Given the description of an element on the screen output the (x, y) to click on. 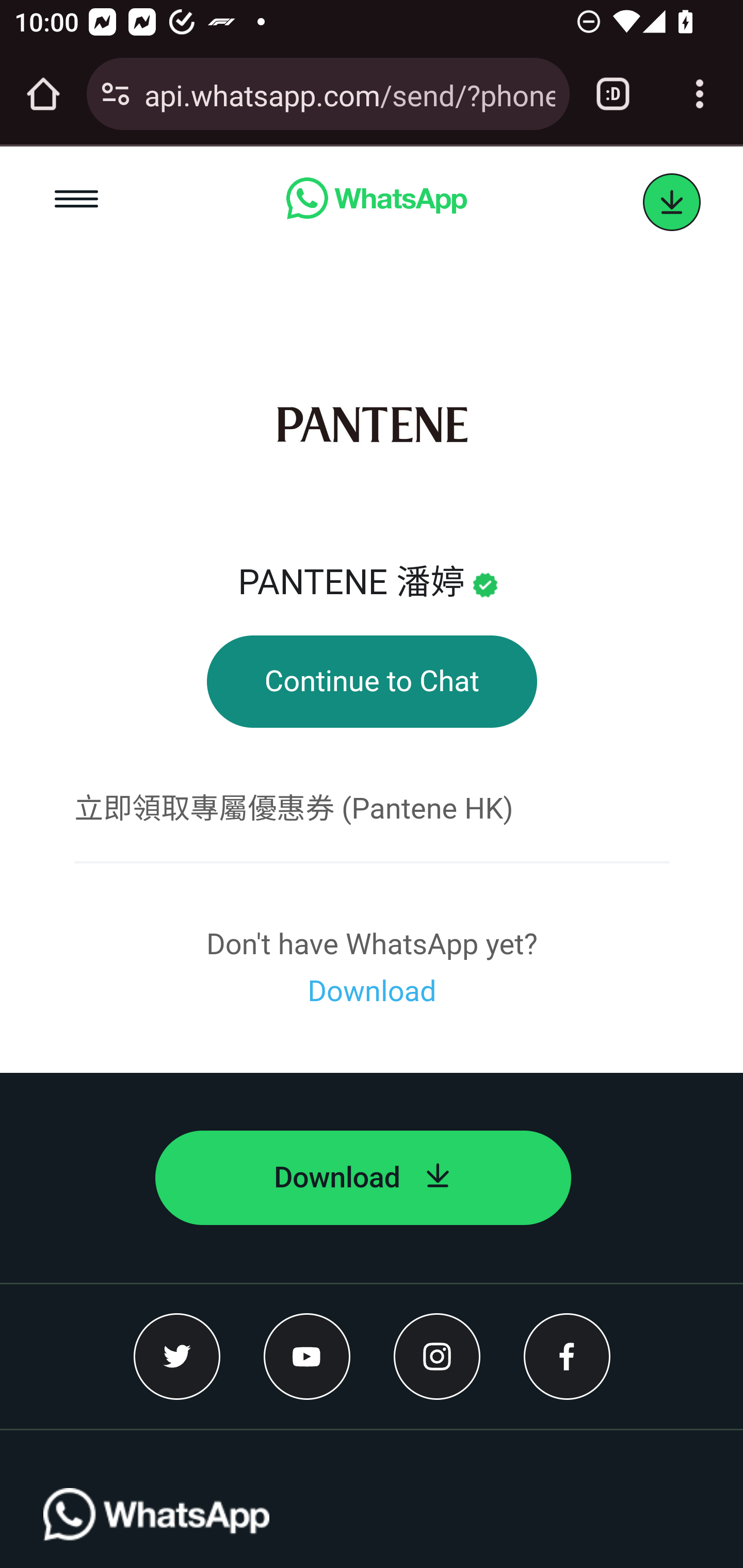
Open the home page (43, 93)
Connection is secure (115, 93)
Switch or close tabs (612, 93)
Customize and control Google Chrome (699, 93)
Open mobile menu (77, 202)
details?id=com (672, 203)
WhatsApp Main Page (376, 202)
Continue to Chat (371, 682)
Download Download Download (371, 991)
Download (363, 1178)
Twitter (177, 1356)
Youtube (307, 1356)
Instagram (436, 1356)
Facebook (566, 1356)
WhatsApp Main Logo (157, 1528)
